Given the description of an element on the screen output the (x, y) to click on. 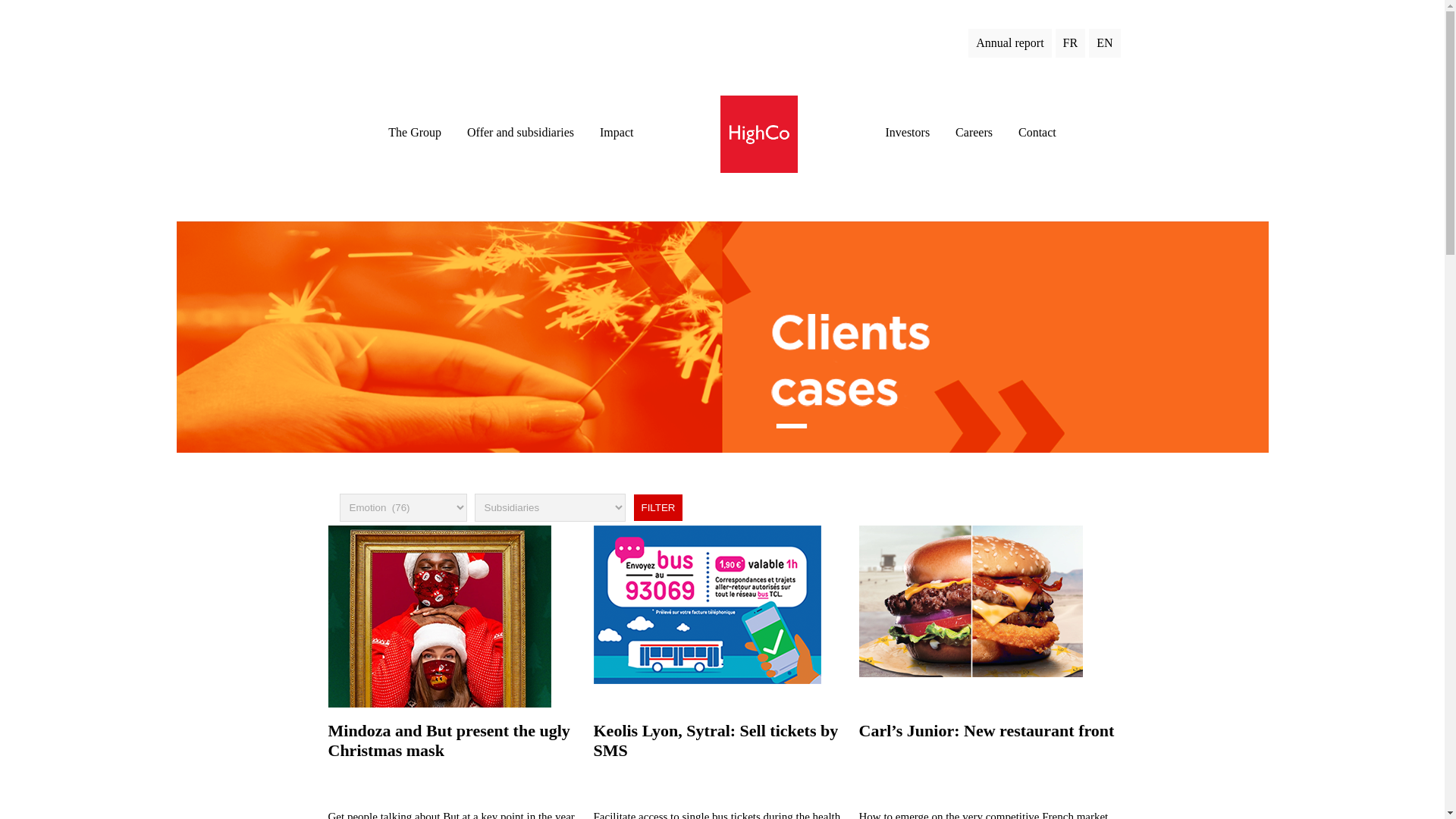
Annual report (1007, 42)
Contact (1037, 132)
Careers (973, 132)
Offer and subsidiaries (520, 132)
Filter (656, 507)
Filter (656, 507)
The Group (414, 132)
EN (1101, 42)
Investors (907, 132)
Impact (616, 132)
